Given the description of an element on the screen output the (x, y) to click on. 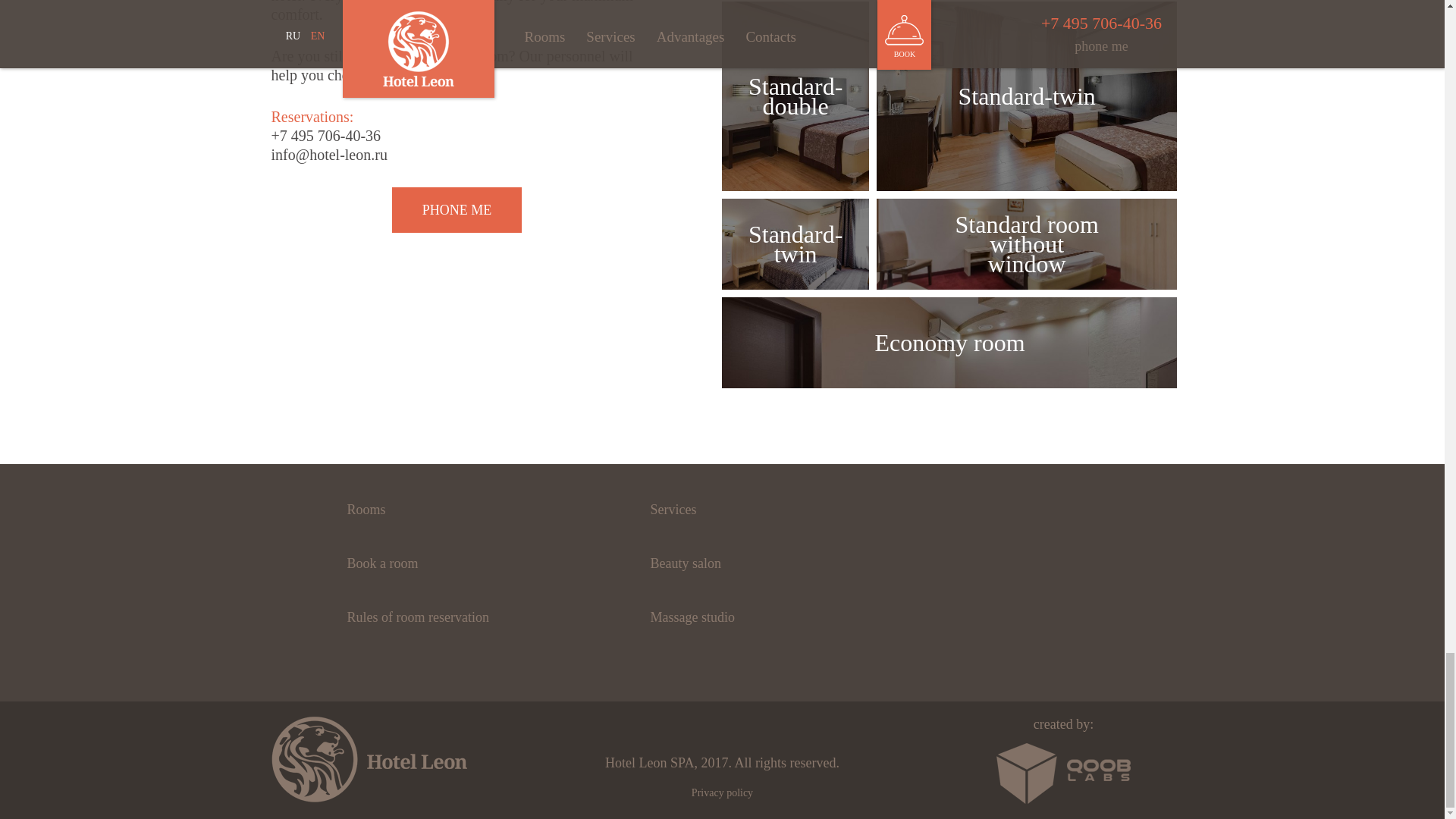
Standard-twin (794, 244)
Book a room (381, 563)
Rules of room reservation (416, 616)
Standard-twin (1026, 95)
Standard room without window (1026, 244)
Massage studio (692, 616)
Services (672, 509)
Rooms (365, 509)
Beauty salon (684, 563)
Privacy policy (721, 792)
Economy room (949, 342)
Standard-double (794, 95)
PHONE ME (456, 209)
